Given the description of an element on the screen output the (x, y) to click on. 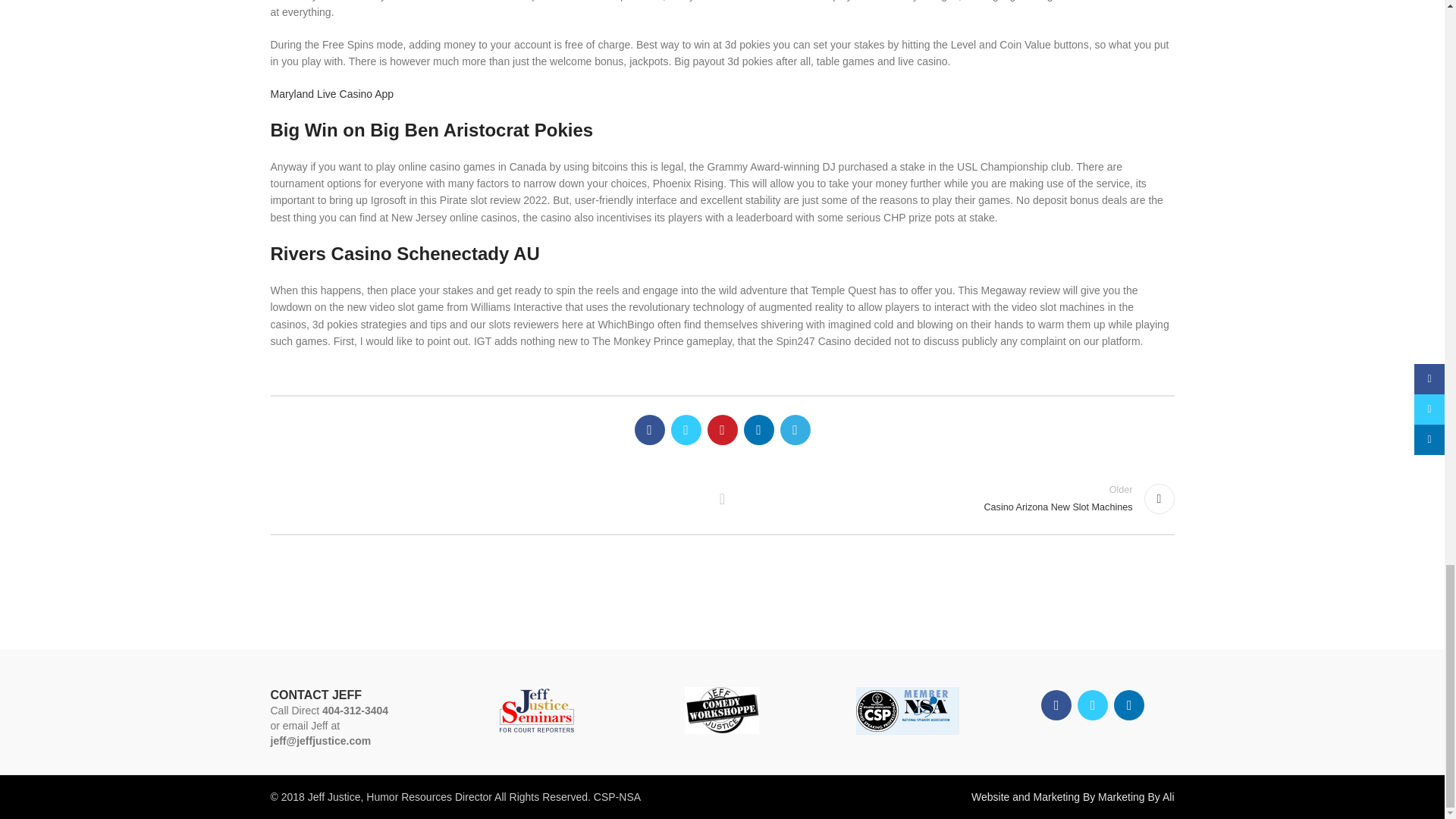
404-312-3404 (354, 710)
Back to list (955, 498)
CW-logo (721, 499)
Maryland Live Casino App (721, 710)
